Given the description of an element on the screen output the (x, y) to click on. 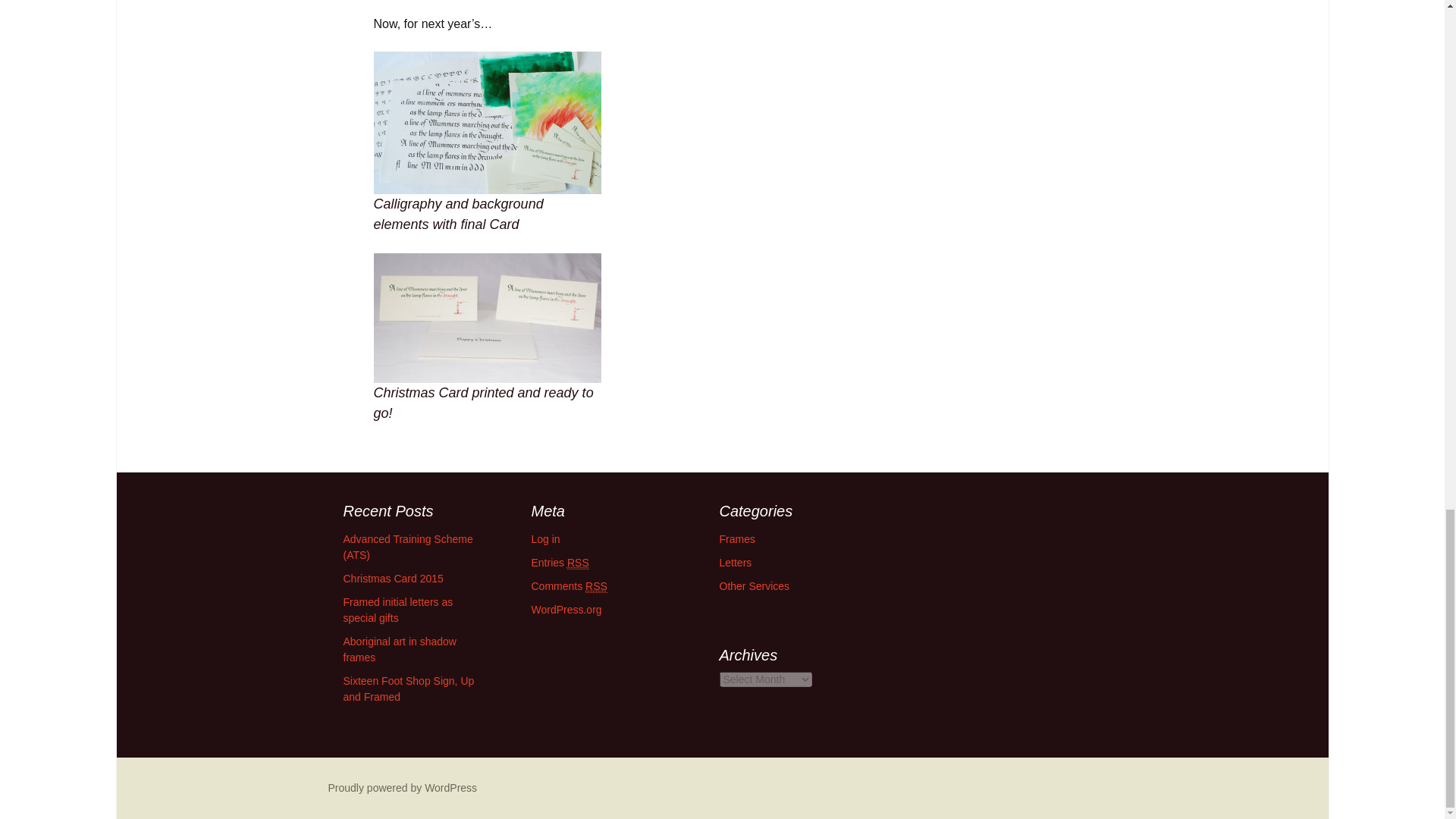
Really Simple Syndication (578, 562)
Really Simple Syndication (596, 585)
